Given the description of an element on the screen output the (x, y) to click on. 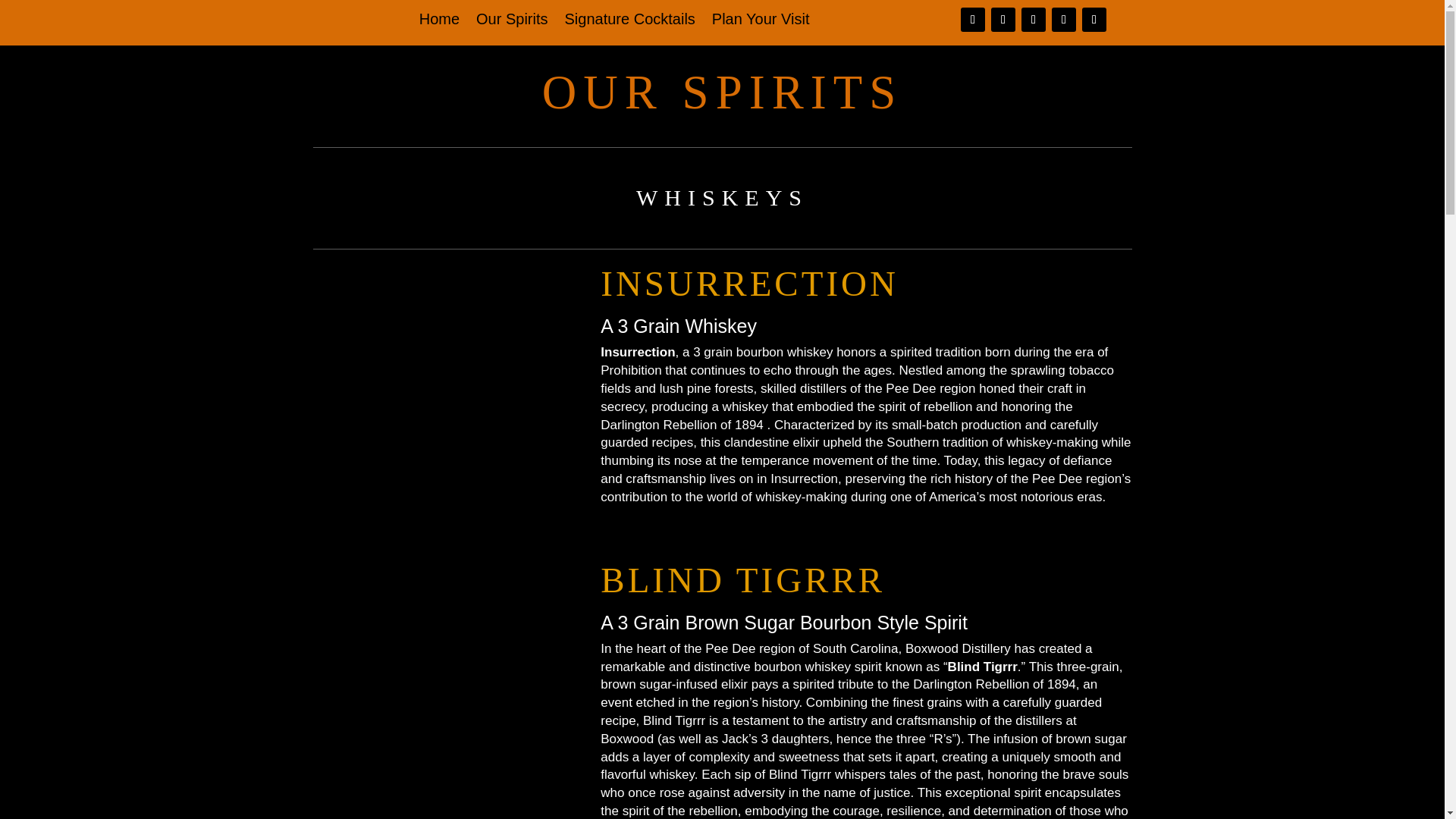
Follow on X (1033, 19)
Follow on TripAdvisor (1063, 19)
Signature Cocktails (629, 21)
Follow on Facebook (972, 19)
Home (439, 21)
Follow on Instagram (1002, 19)
Our Spirits (511, 21)
Follow on Yelp (1093, 19)
Plan Your Visit (760, 21)
